Given the description of an element on the screen output the (x, y) to click on. 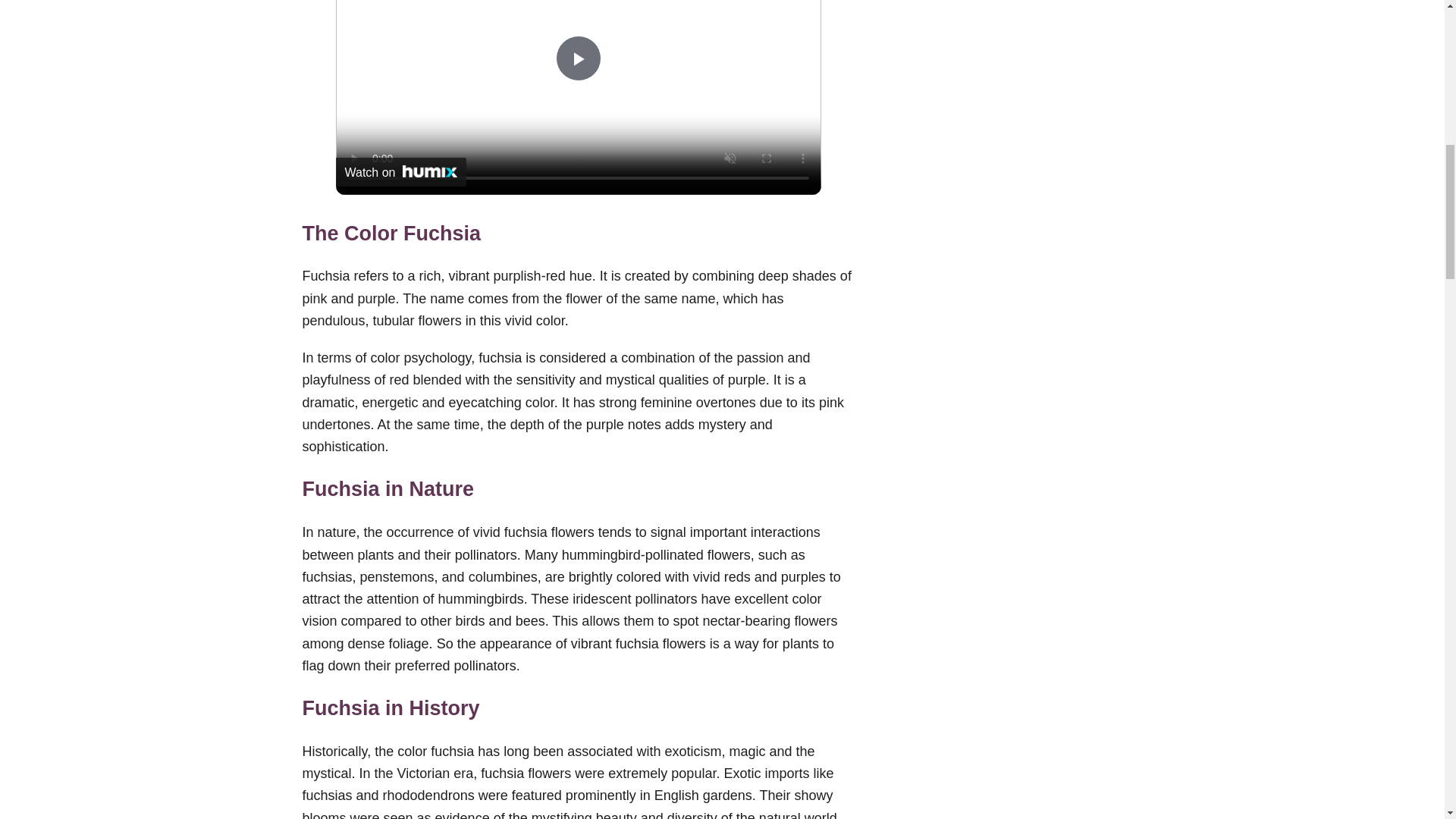
Play Video (576, 58)
Watch on (399, 172)
Play Video (576, 58)
